Given the description of an element on the screen output the (x, y) to click on. 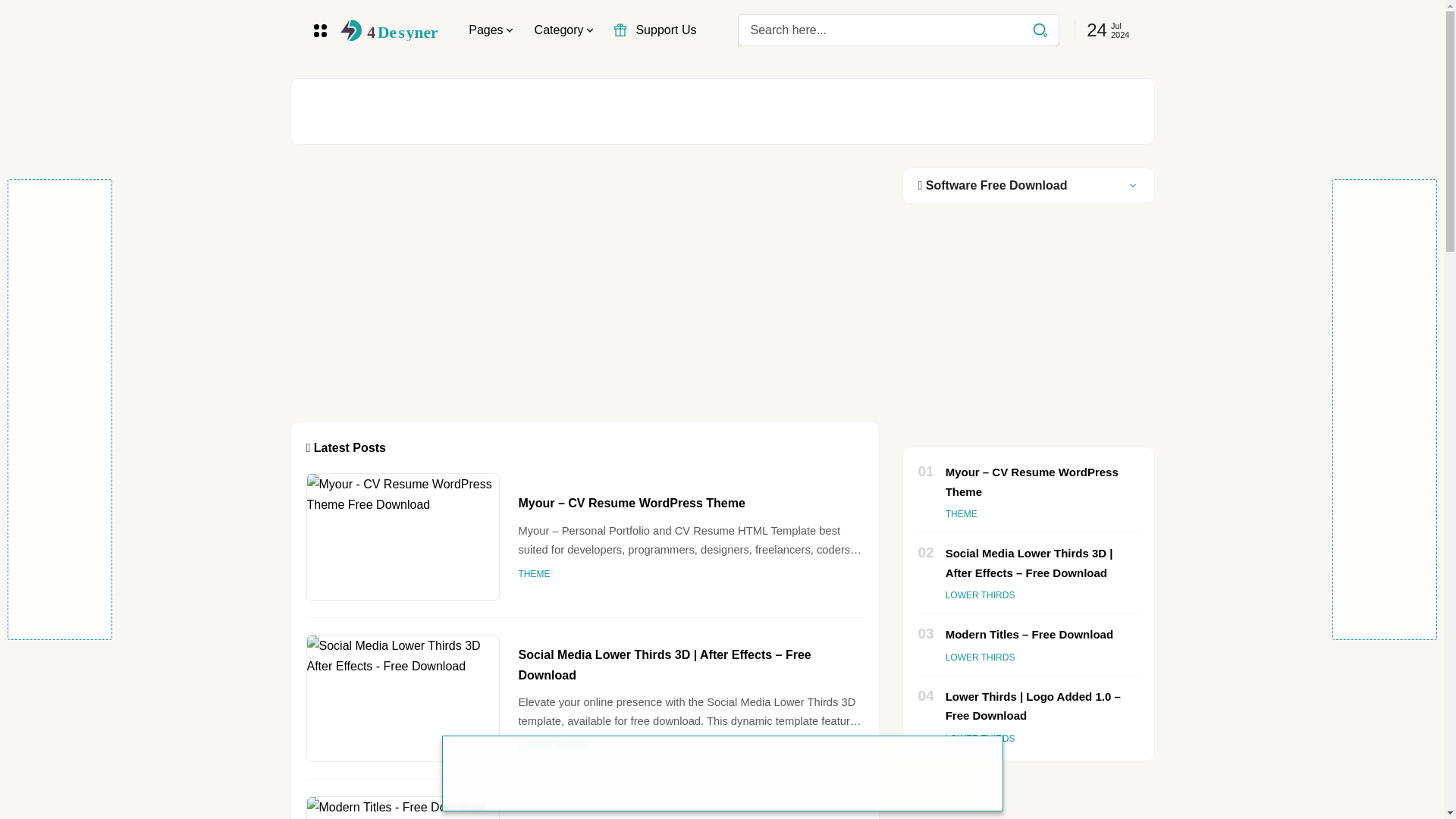
4desyner (389, 29)
Category (564, 29)
